Given the description of an element on the screen output the (x, y) to click on. 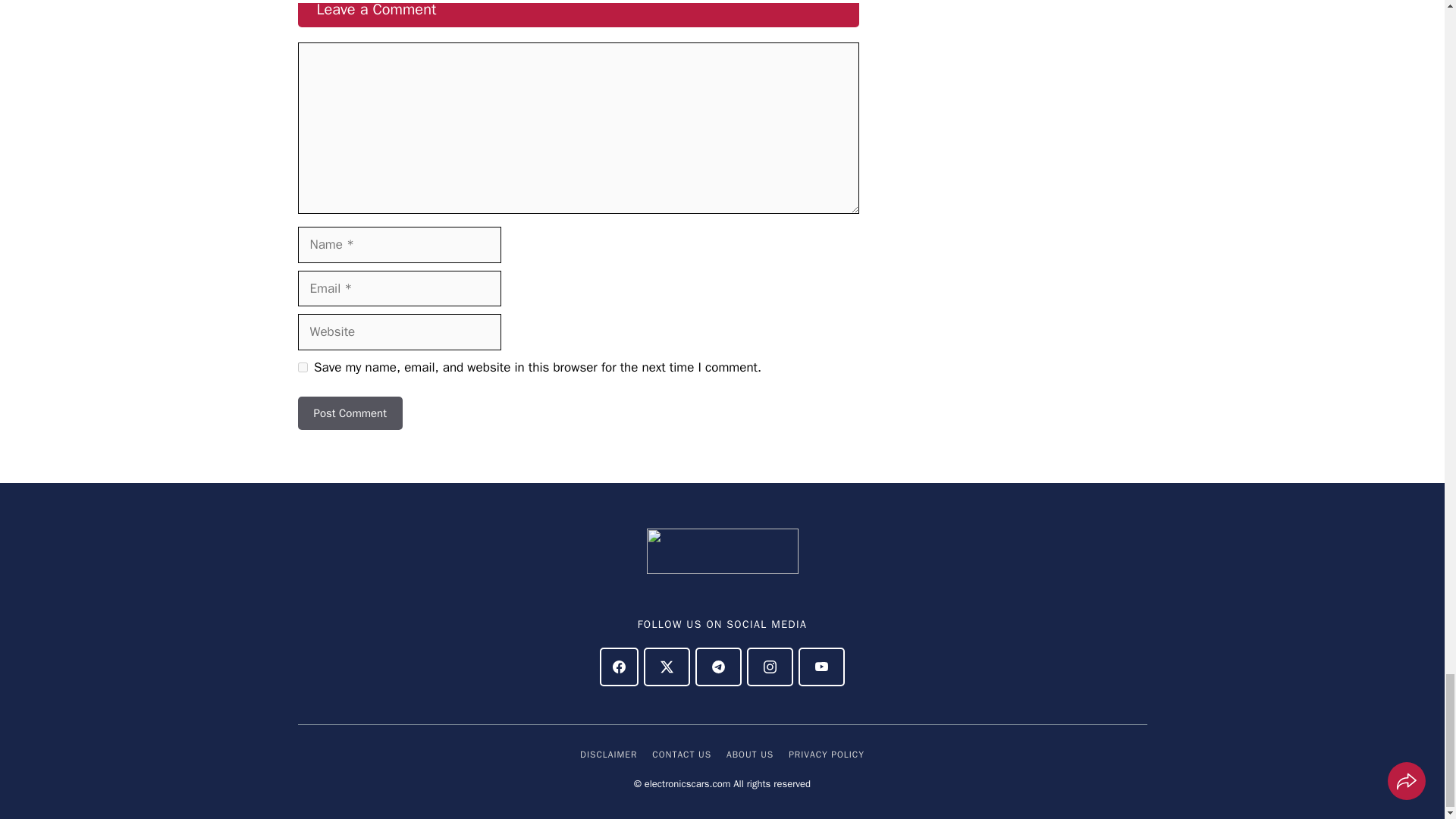
menu-logo (721, 551)
yes (302, 367)
Post Comment (349, 413)
Post Comment (349, 413)
